Given the description of an element on the screen output the (x, y) to click on. 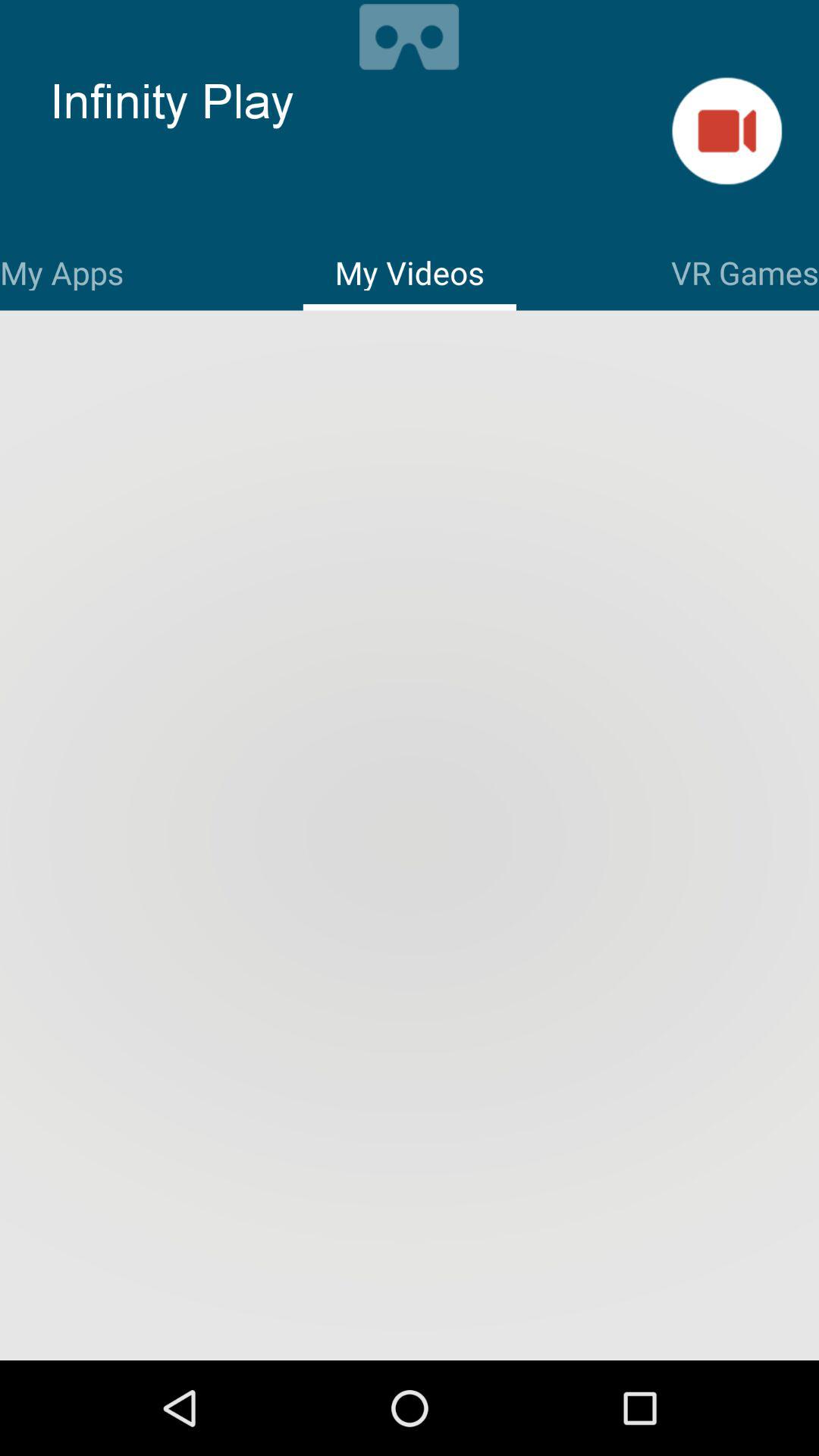
press the icon to the left of the my videos (61, 270)
